Given the description of an element on the screen output the (x, y) to click on. 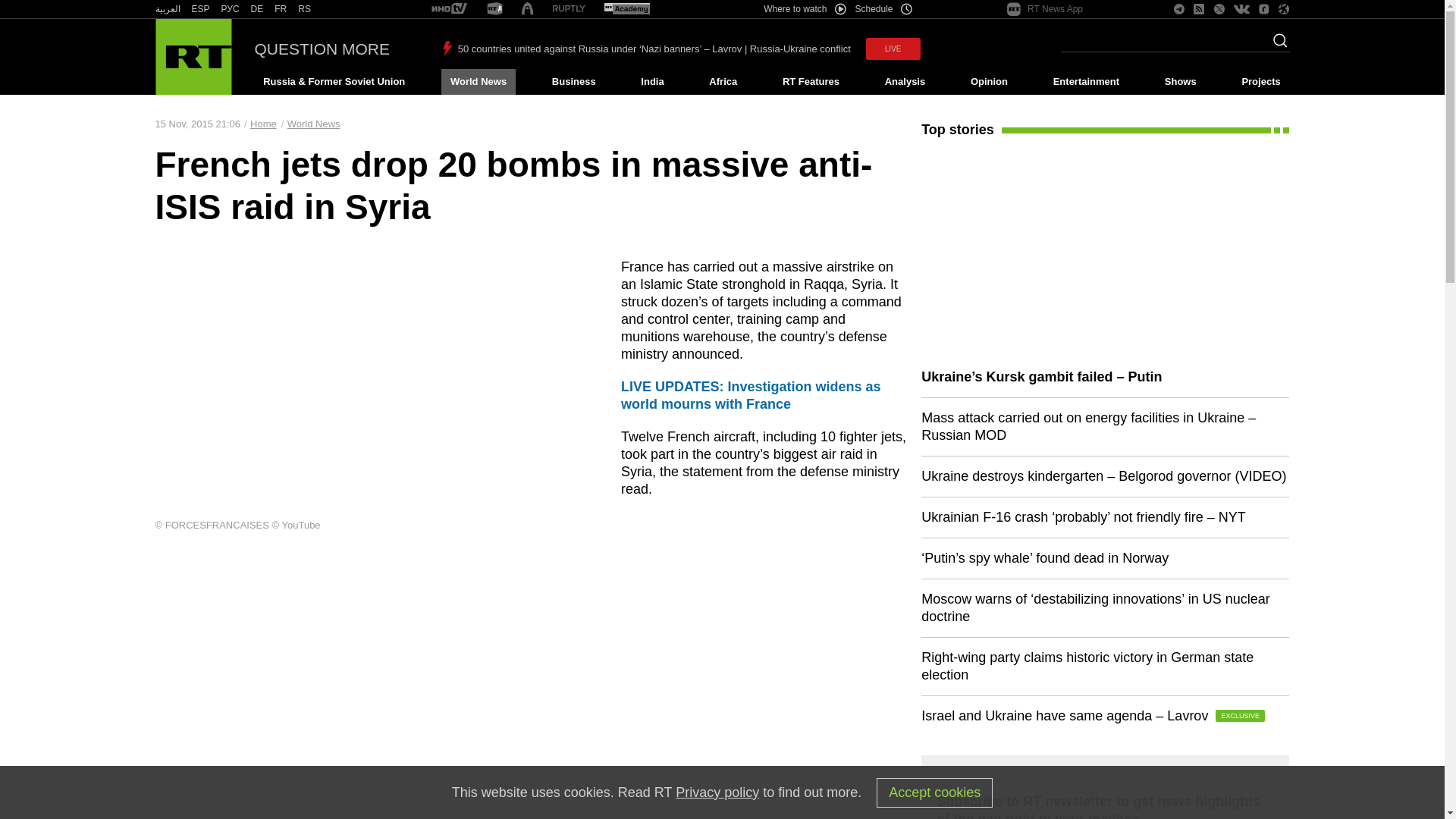
India (651, 81)
Search (1276, 44)
RT  (569, 8)
RT  (166, 9)
RT  (199, 9)
DE (256, 9)
Business (573, 81)
RS (304, 9)
RT  (230, 9)
Where to watch (803, 9)
